Given the description of an element on the screen output the (x, y) to click on. 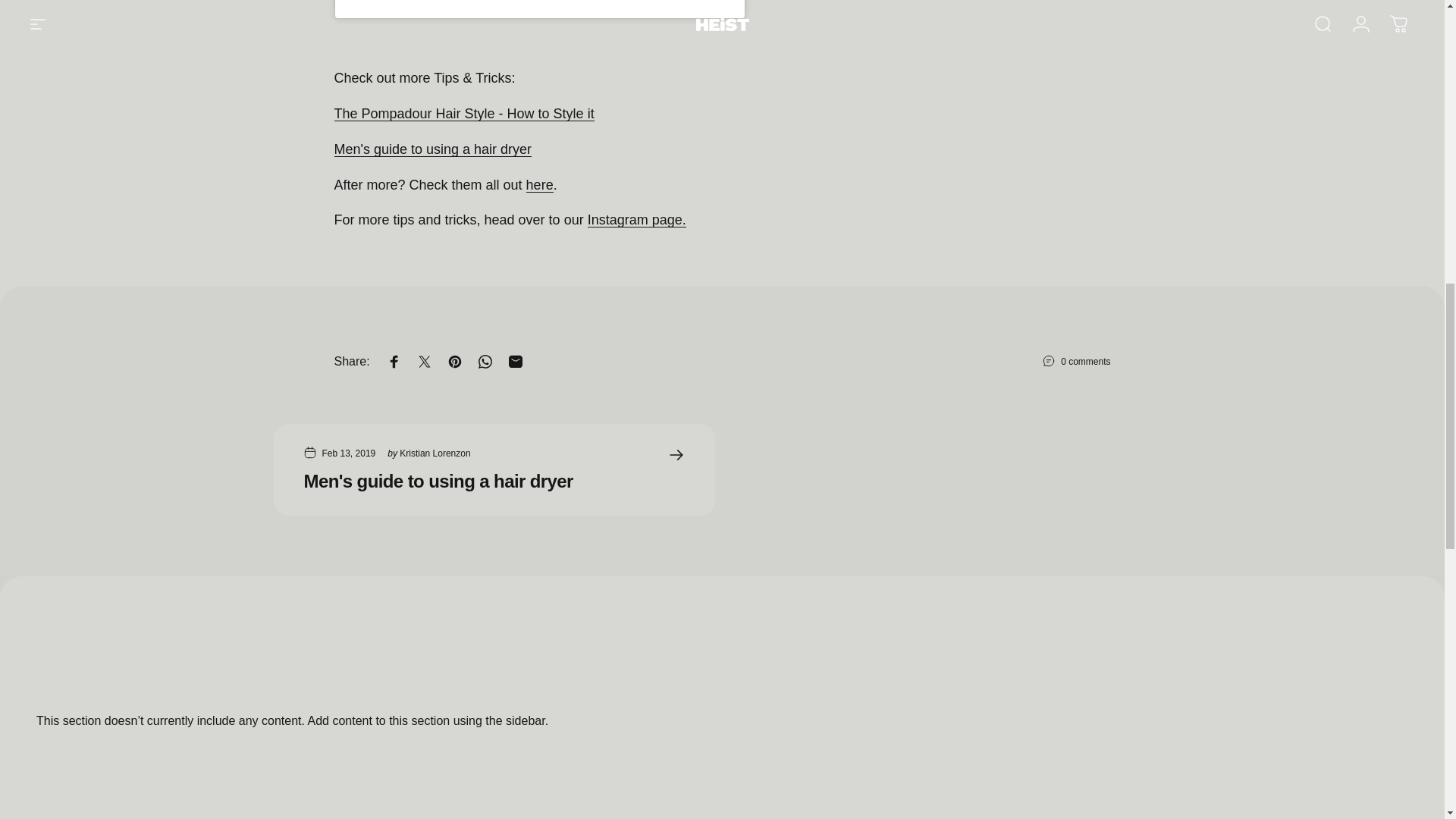
Share by Email (515, 361)
Share on Facebook (393, 361)
Heist Instagram (636, 219)
Pin on Pinterest (454, 361)
Tweet on Twitter (424, 361)
The Pompadour Hair Style - How to Style it (463, 113)
Men's guide to using a hair dryer (432, 149)
Share on WhatsApp (485, 361)
